Given the description of an element on the screen output the (x, y) to click on. 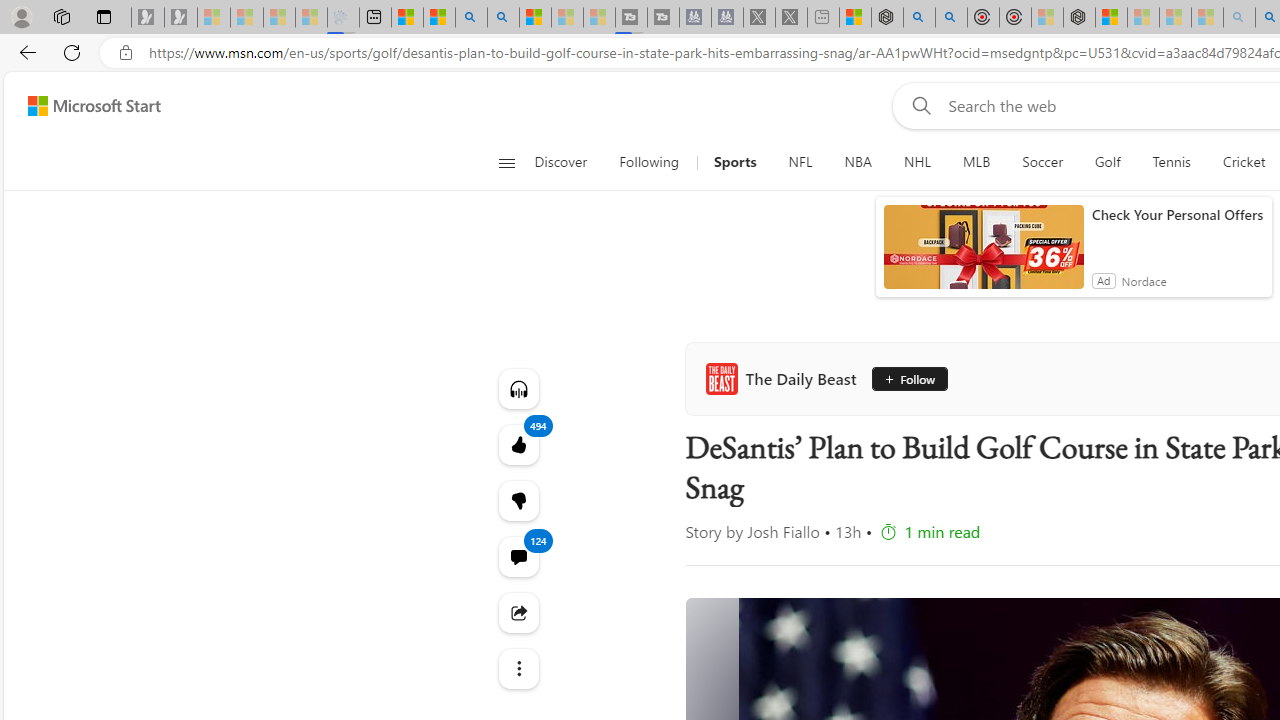
NHL (918, 162)
View comments 124 Comment (517, 556)
anim-content (983, 255)
NBA (858, 162)
poe - Search (919, 17)
Following (648, 162)
Search (502, 17)
Web search (917, 105)
More like this494Fewer like thisView comments (517, 500)
